Given the description of an element on the screen output the (x, y) to click on. 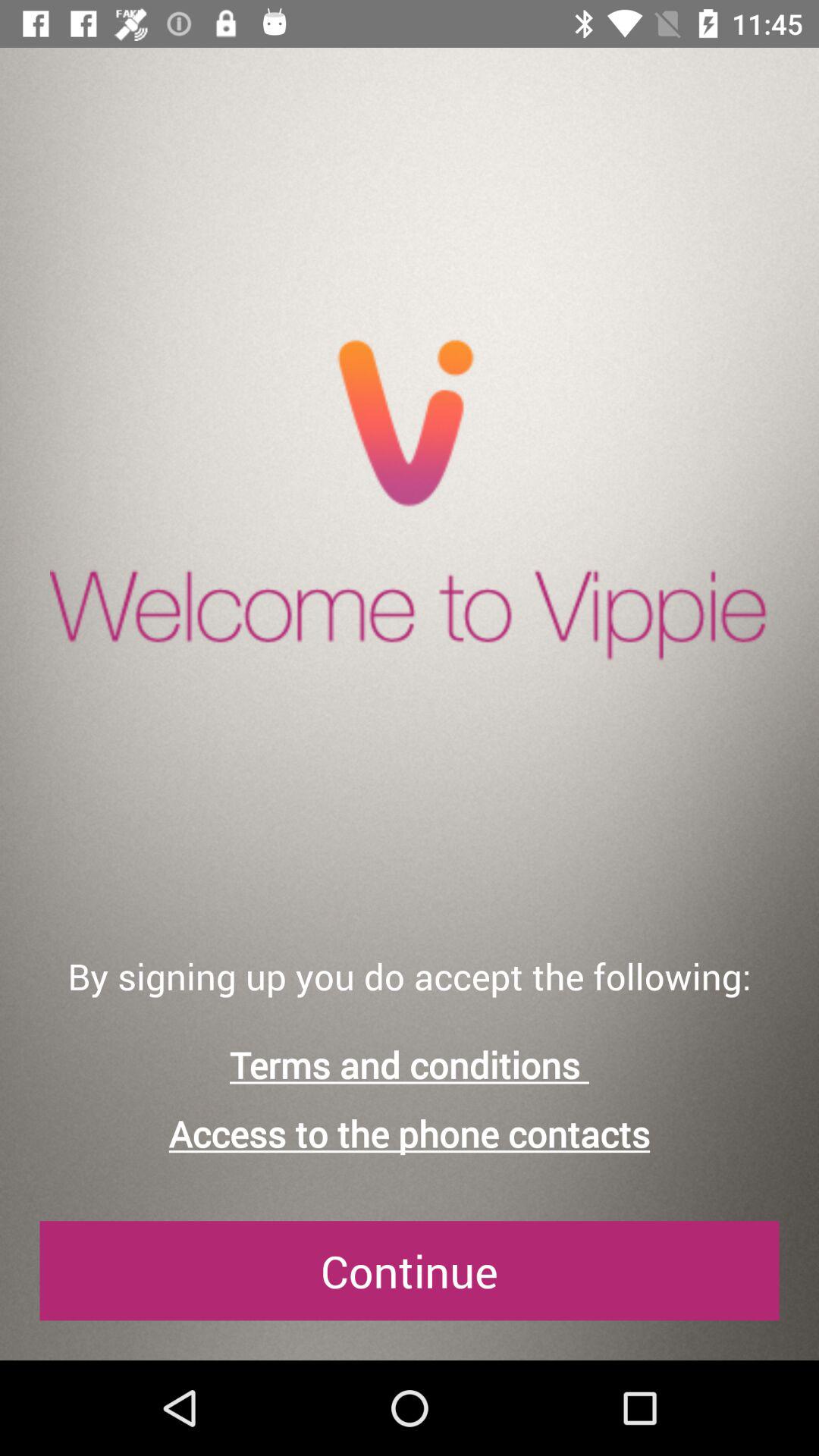
jump until access to the icon (409, 1133)
